Given the description of an element on the screen output the (x, y) to click on. 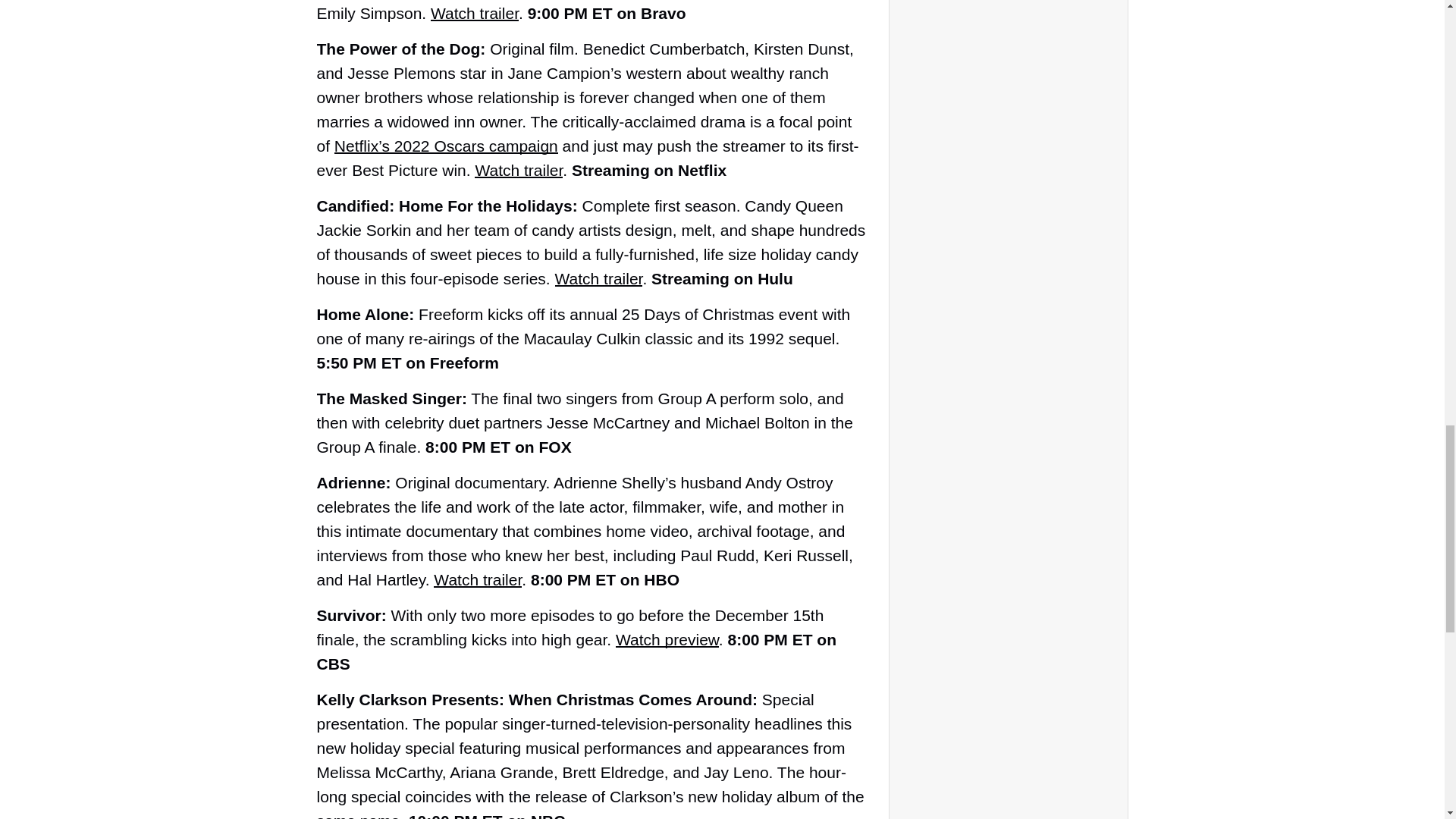
Watch trailer (474, 13)
Watch trailer (518, 170)
Watch trailer (598, 278)
Watch trailer (477, 579)
